Given the description of an element on the screen output the (x, y) to click on. 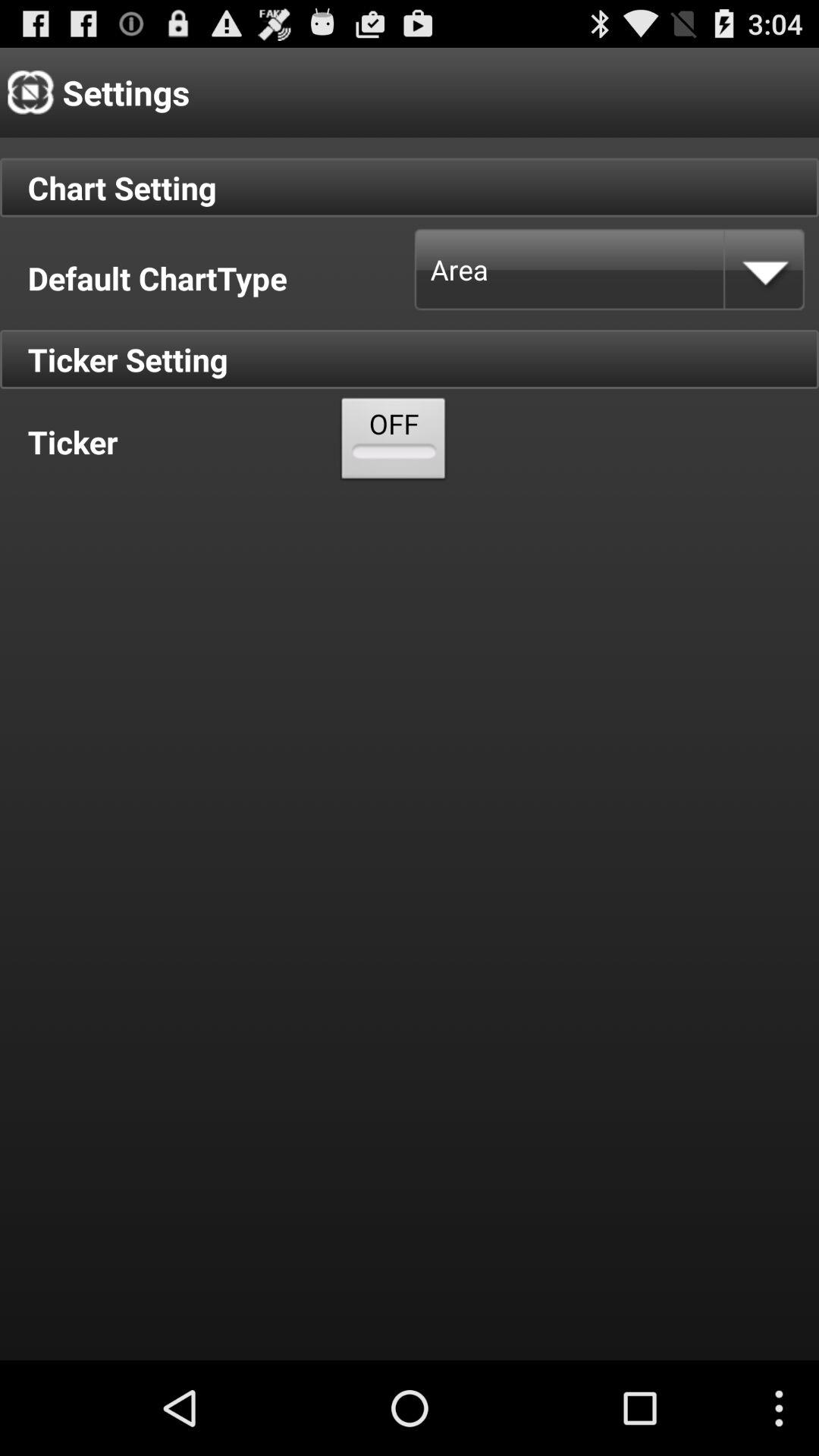
tap icon at the top (393, 441)
